Given the description of an element on the screen output the (x, y) to click on. 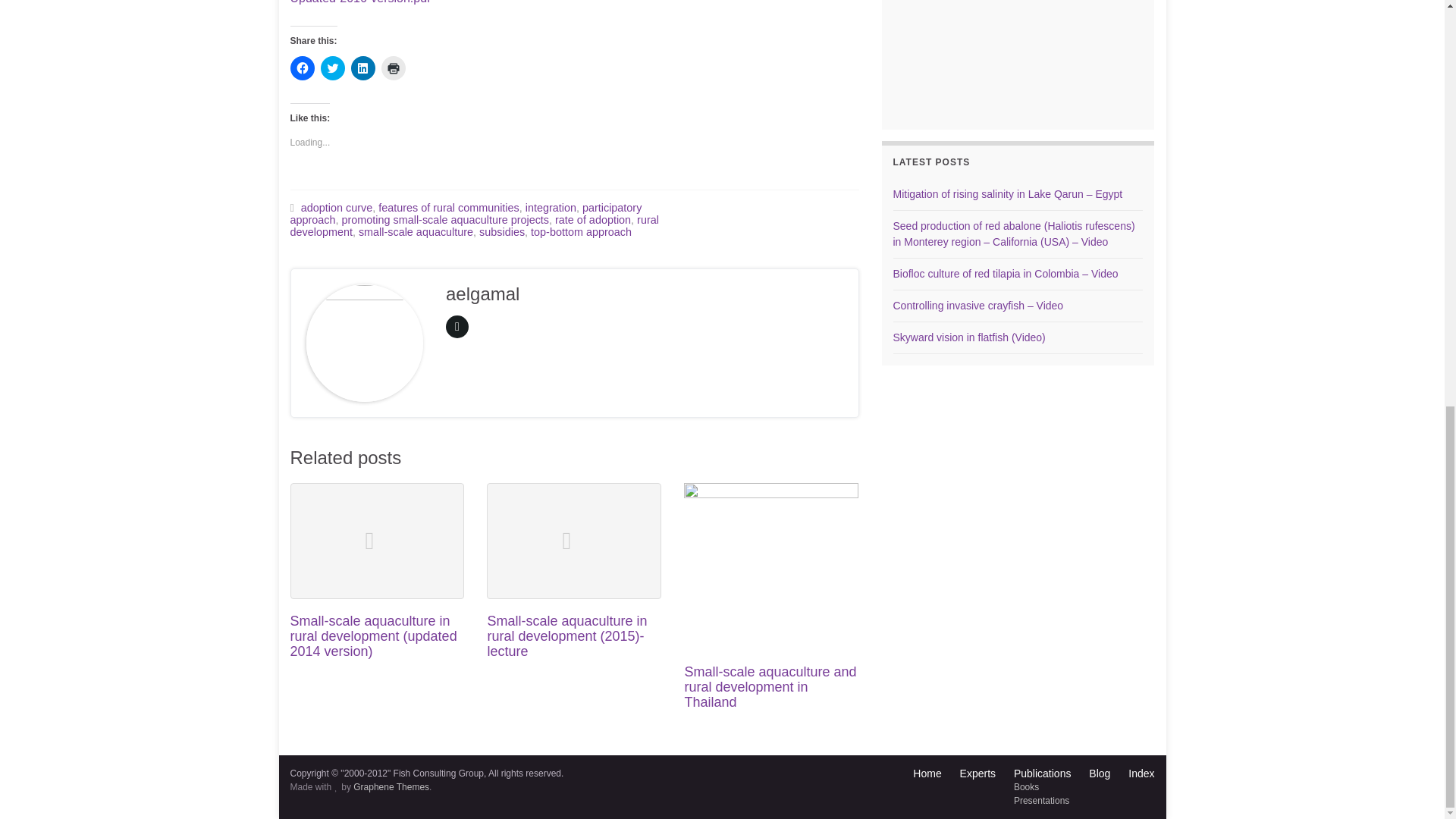
Click to share on LinkedIn (362, 68)
Click to share on Twitter (331, 68)
Click to print (392, 68)
Click to share on Facebook (301, 68)
